Given the description of an element on the screen output the (x, y) to click on. 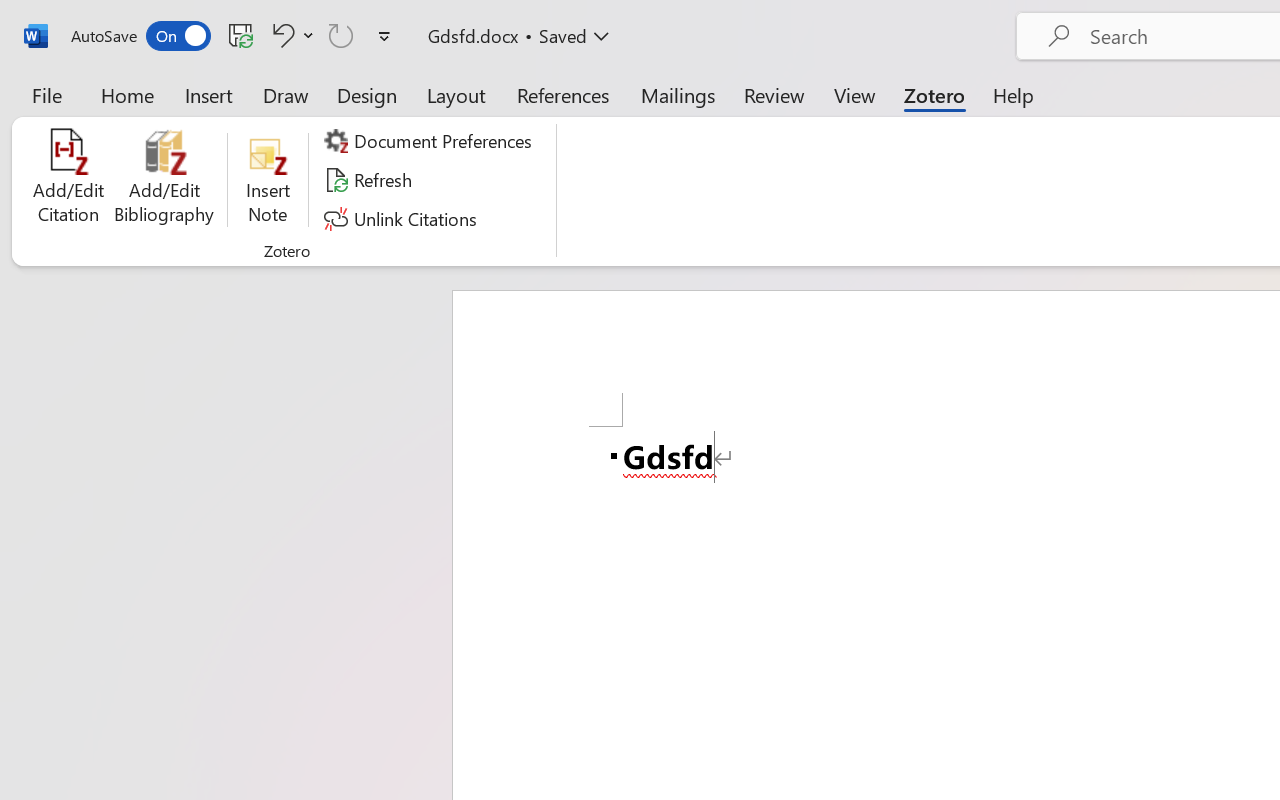
Refresh (370, 179)
Document Preferences (431, 141)
Add/Edit Bibliography (164, 179)
Insert Note (267, 179)
Undo <ApplyStyleToDoc>b__0 (280, 35)
Add/Edit Citation (68, 179)
Unlink Citations (403, 218)
